Given the description of an element on the screen output the (x, y) to click on. 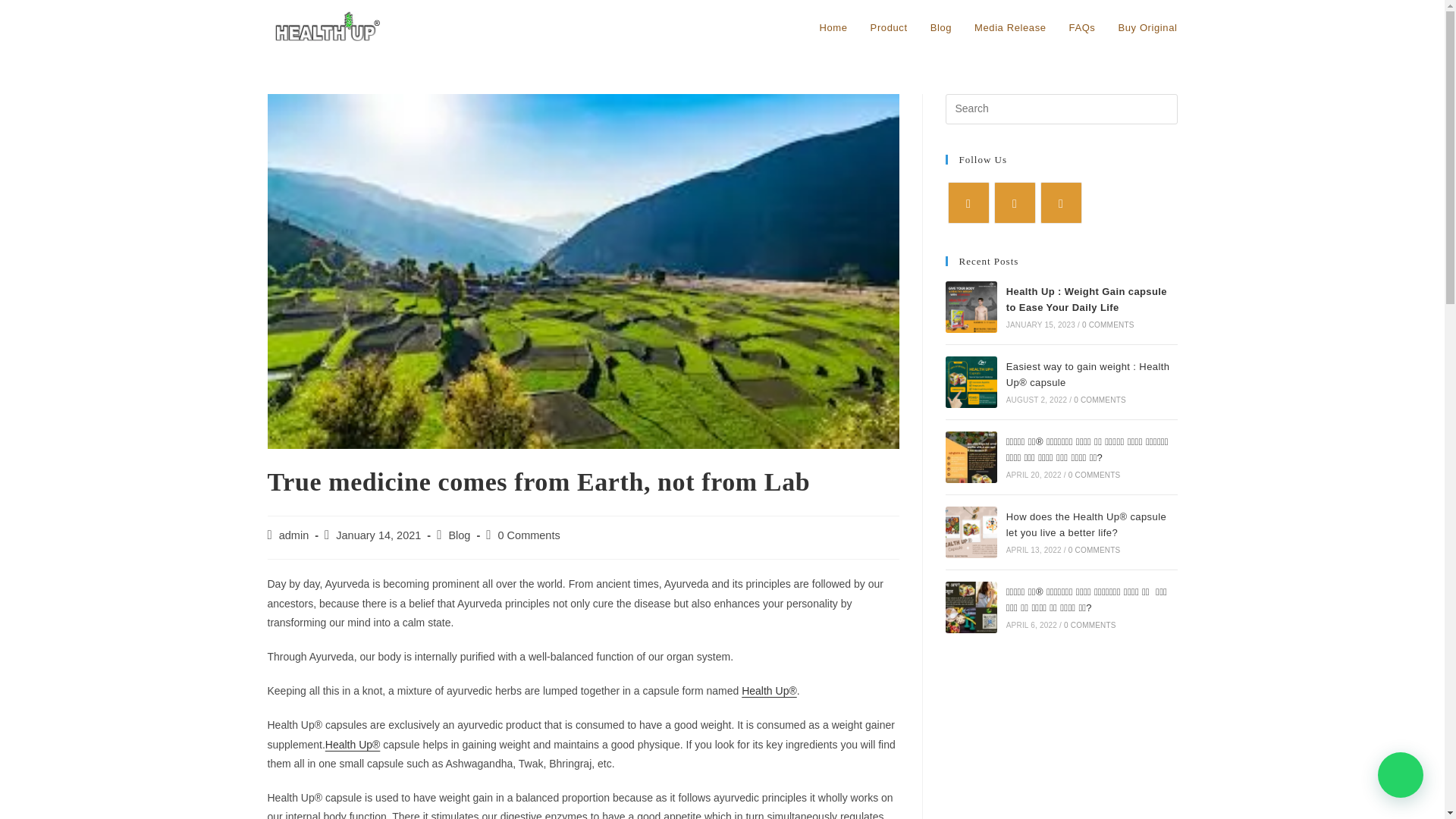
Media Release (1010, 28)
admin (293, 535)
Posts by admin (293, 535)
0 COMMENTS (1107, 325)
Buy Original (1147, 28)
Blog (459, 535)
Product (888, 28)
Health Up : Weight Gain capsule to Ease Your Daily Life (1086, 298)
Home (833, 28)
0 Comments (528, 535)
